Given the description of an element on the screen output the (x, y) to click on. 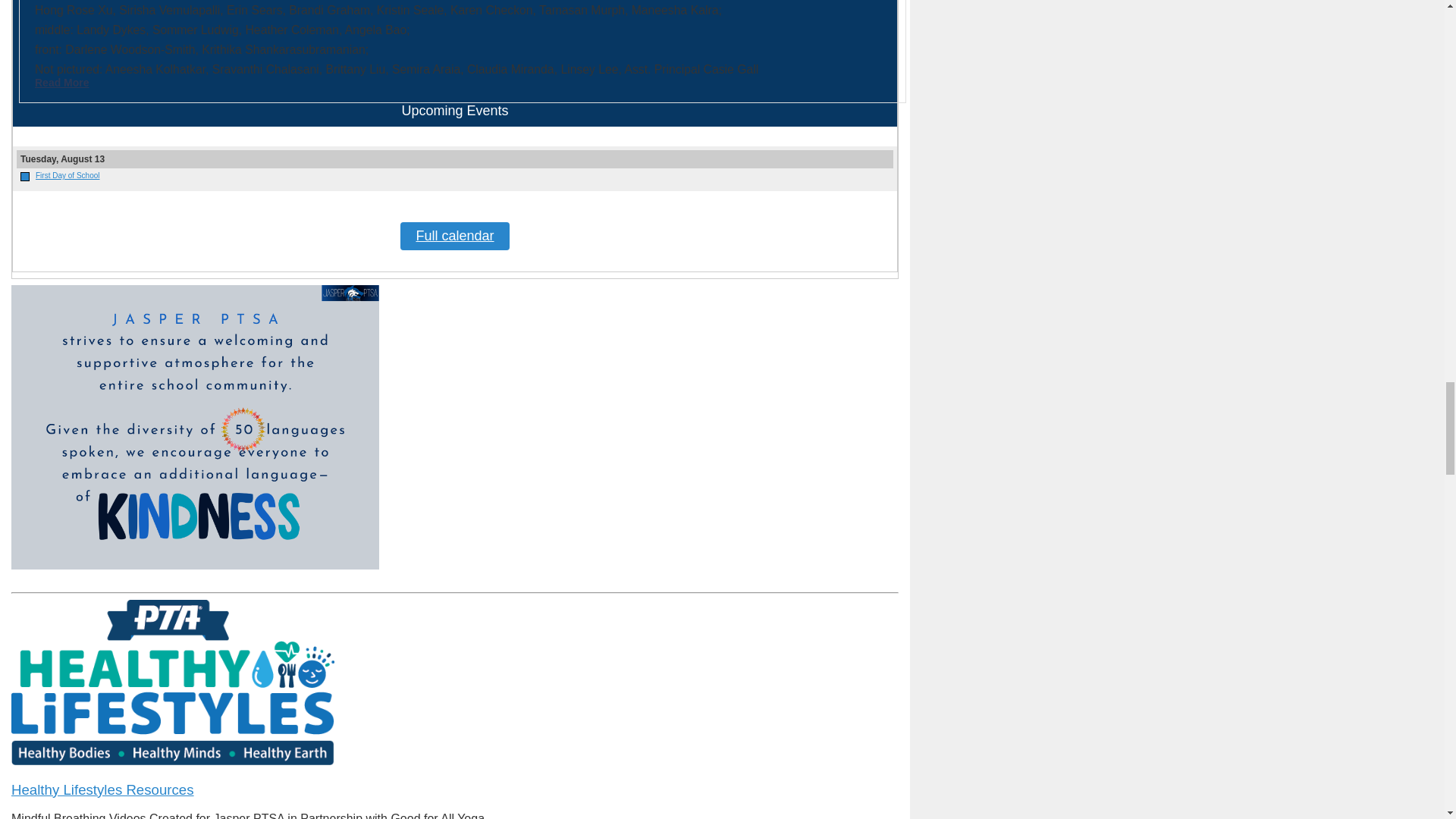
Healthy Lifestyles Resources (102, 789)
Jasper PTSA (24, 175)
